Given the description of an element on the screen output the (x, y) to click on. 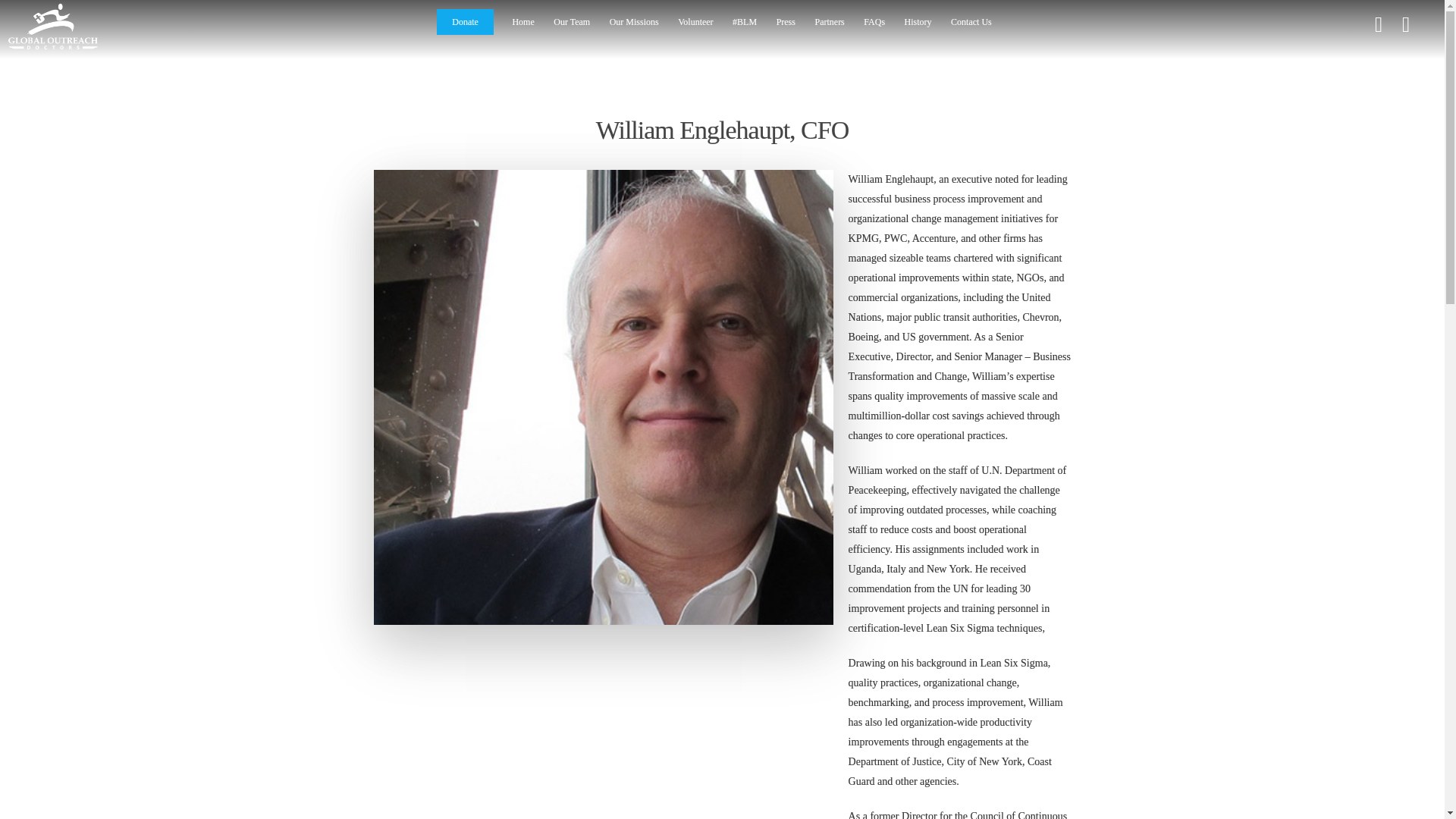
Donate (464, 29)
Our Missions (634, 29)
Contact Us (970, 29)
